Given the description of an element on the screen output the (x, y) to click on. 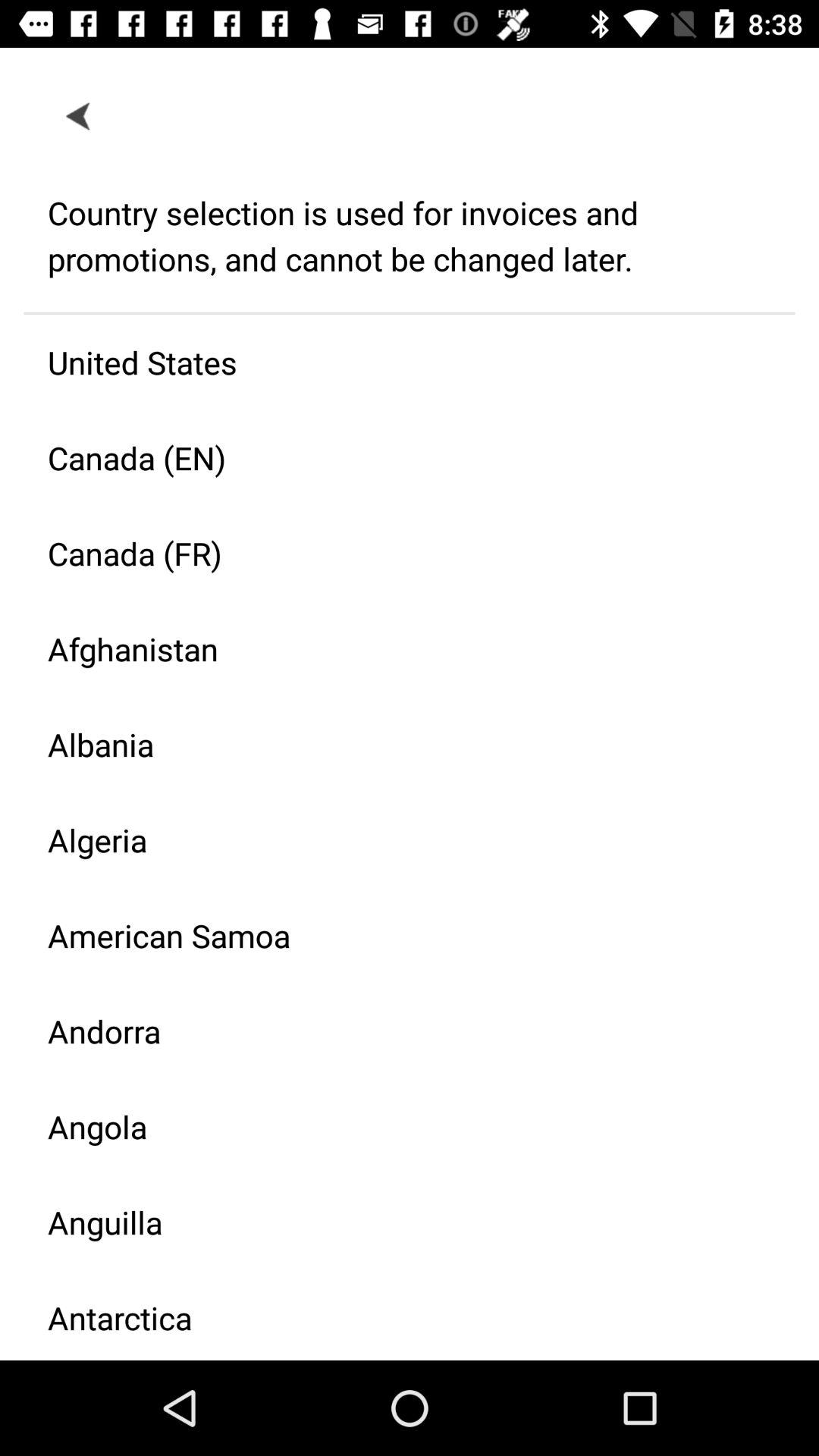
launch item below afghanistan (397, 744)
